Given the description of an element on the screen output the (x, y) to click on. 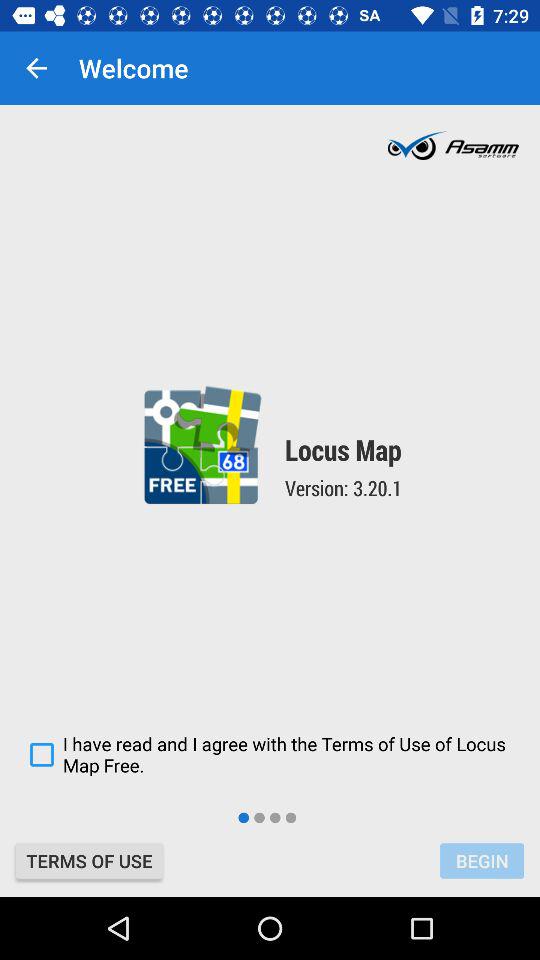
jump until i have read item (270, 754)
